Given the description of an element on the screen output the (x, y) to click on. 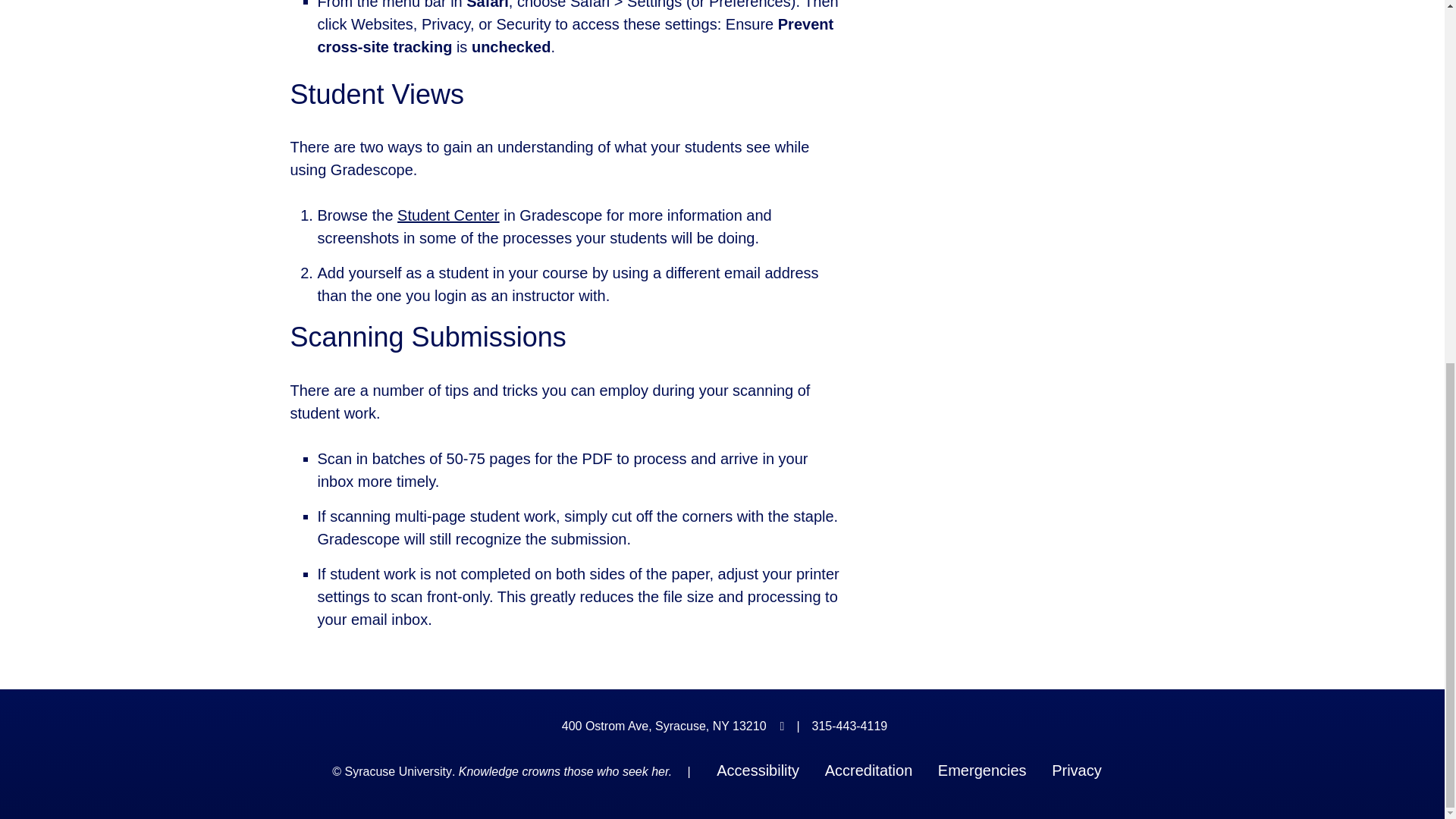
Link to address on Google Maps (664, 726)
